Given the description of an element on the screen output the (x, y) to click on. 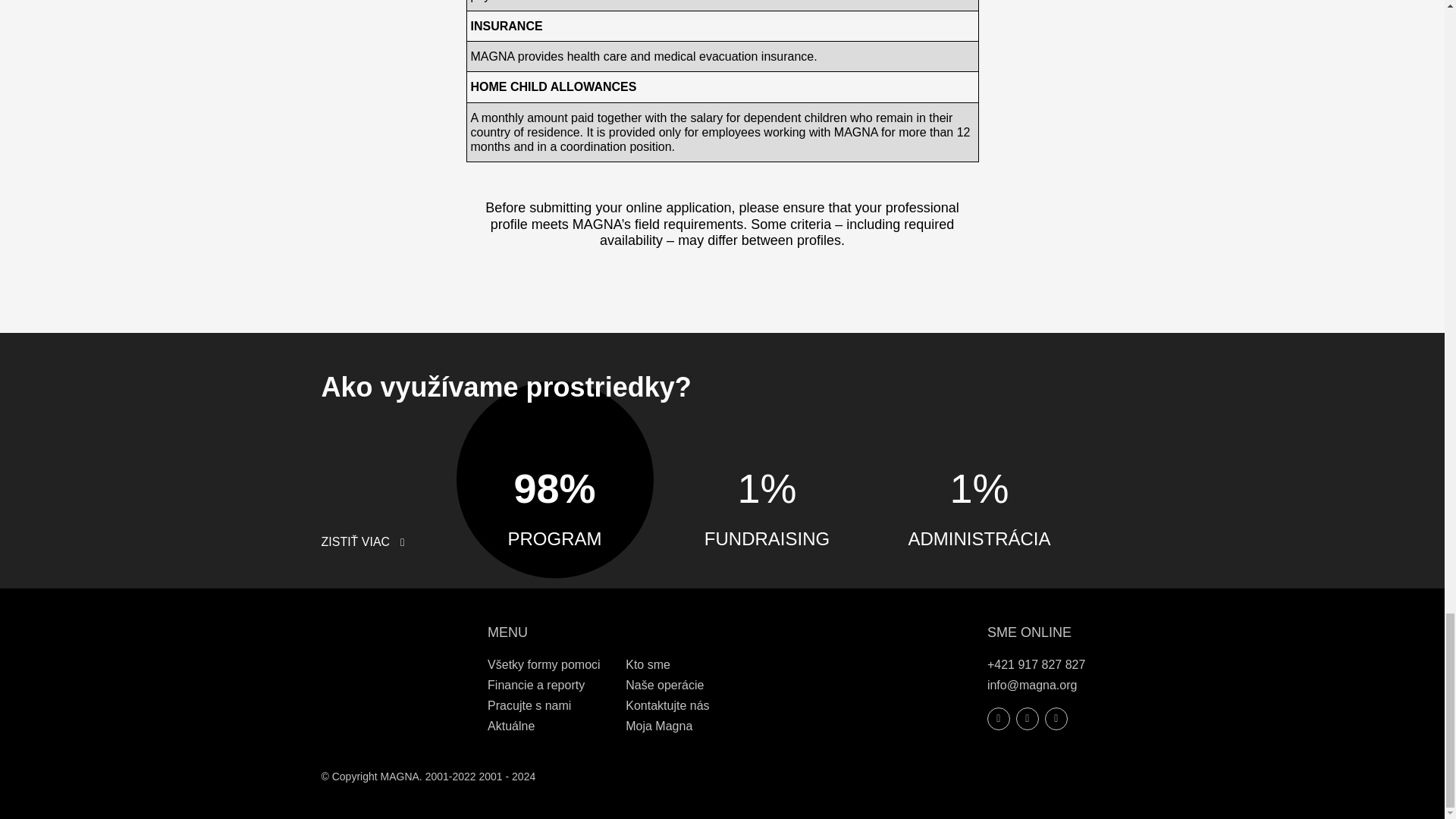
Financie a reporty (536, 684)
Kto sme (647, 664)
Pracujte s nami (528, 705)
Moja Magna (659, 725)
